Given the description of an element on the screen output the (x, y) to click on. 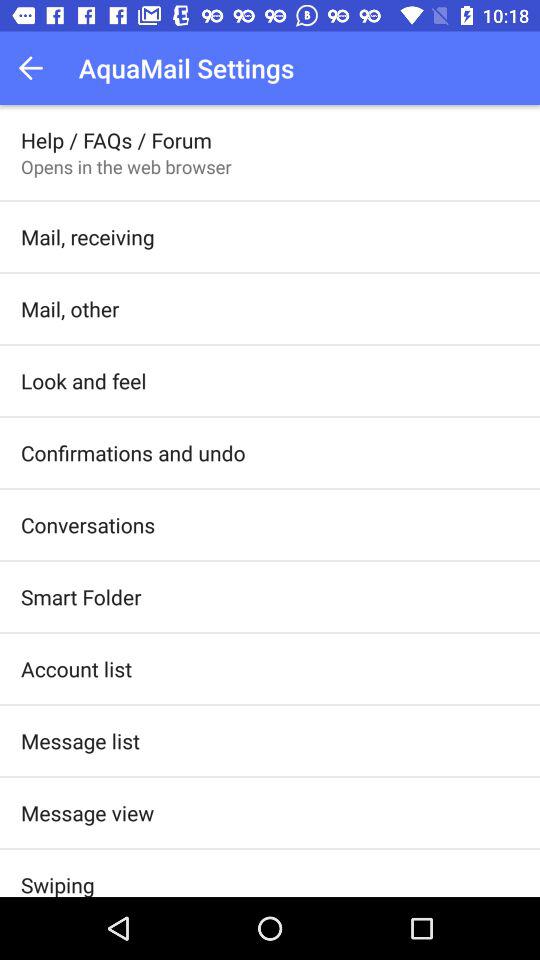
click the help / faqs / forum (116, 139)
